Given the description of an element on the screen output the (x, y) to click on. 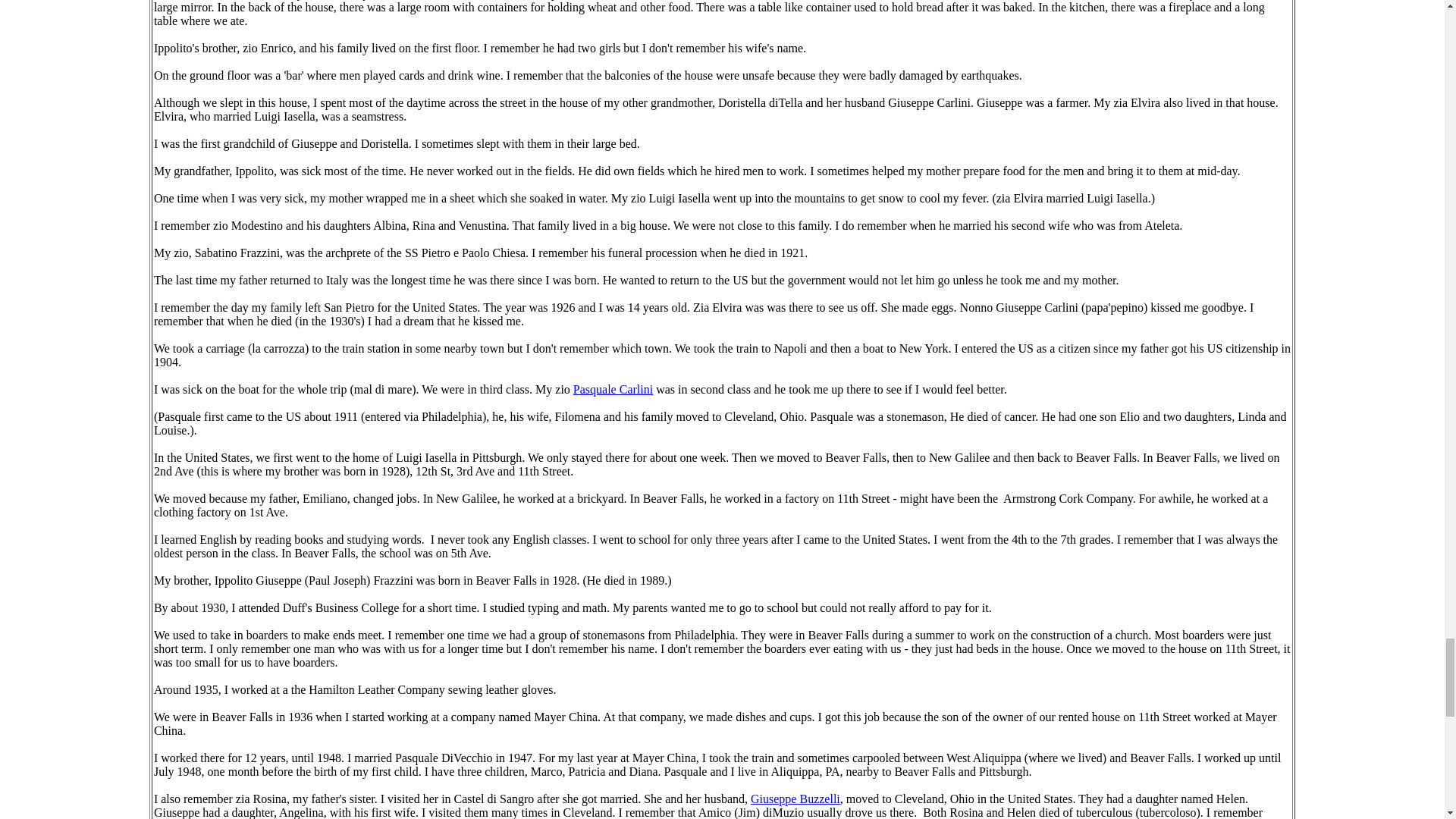
Giuseppe Buzzelli (795, 798)
Pasquale Carlini (612, 389)
